Given the description of an element on the screen output the (x, y) to click on. 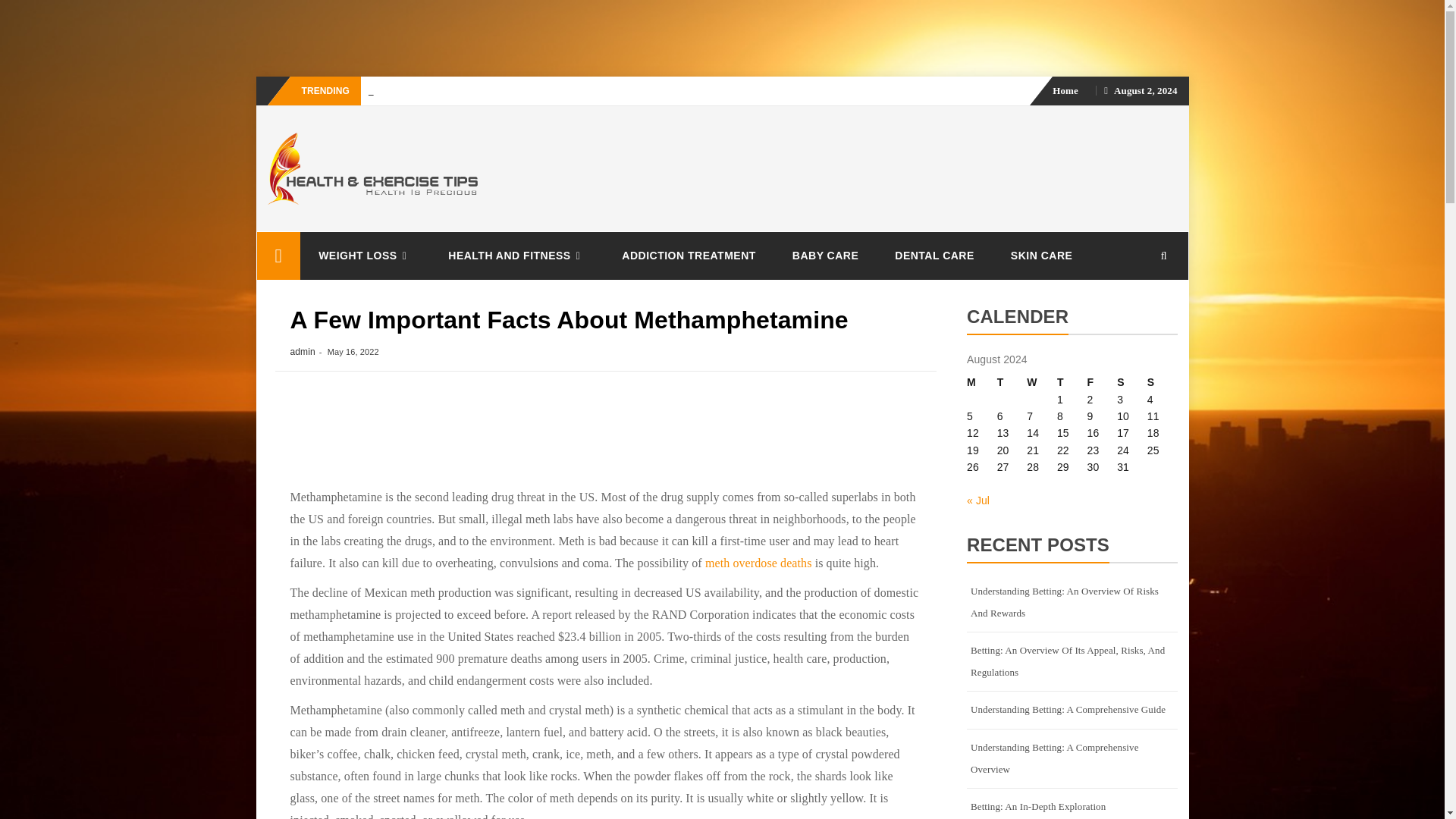
meth overdose deaths (758, 562)
HEALTH AND FITNESS (516, 255)
Tuesday (1012, 381)
admin (301, 351)
Wednesday (1041, 381)
Advertisement (605, 435)
DENTAL CARE (934, 255)
BABY CARE (825, 255)
Monday (981, 381)
ADDICTION TREATMENT (688, 255)
WEIGHT LOSS (364, 255)
Advertisement (265, 36)
SKIN CARE (1041, 255)
